Given the description of an element on the screen output the (x, y) to click on. 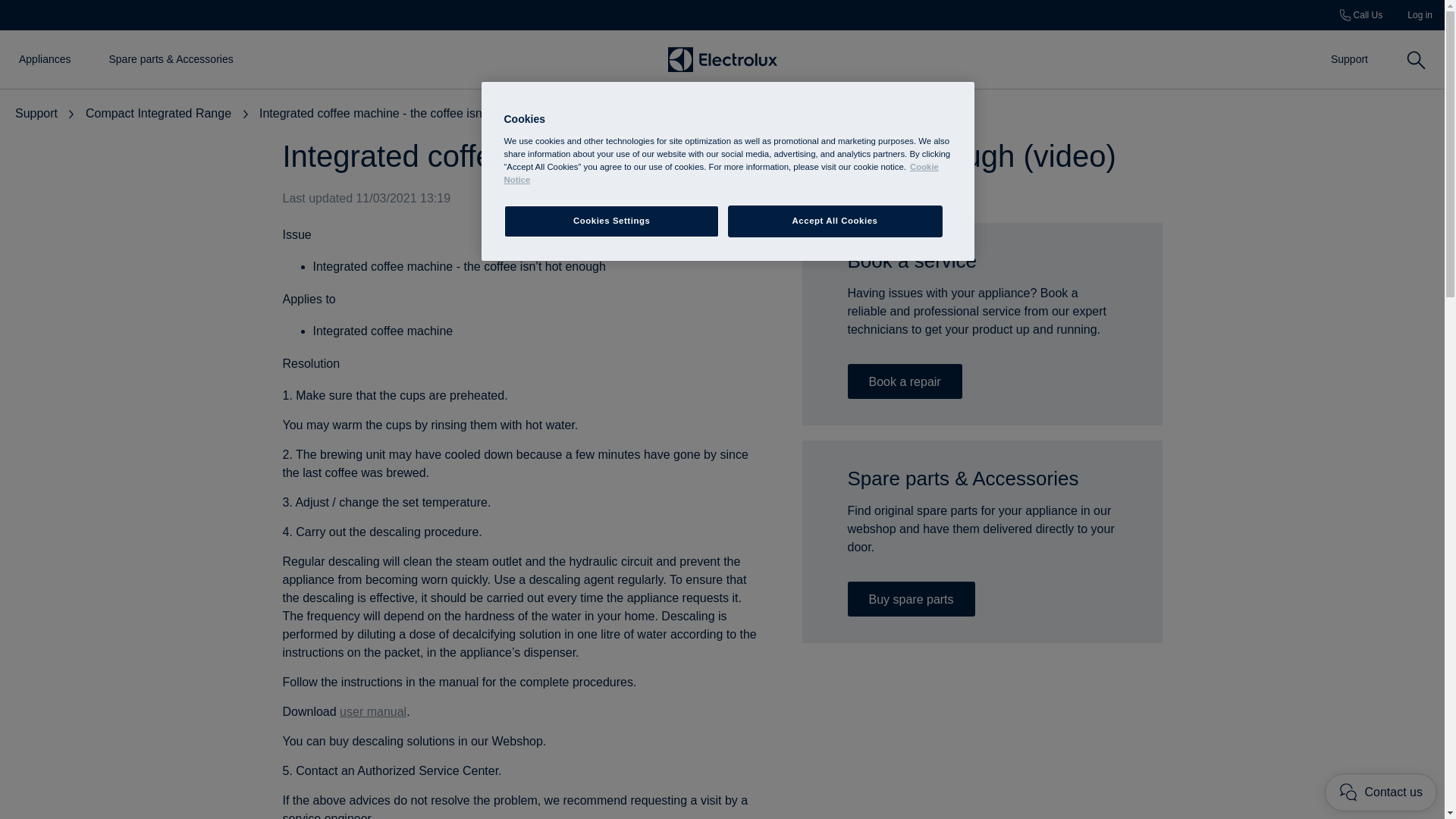
Appliances (44, 59)
Call Us (1360, 15)
